Given the description of an element on the screen output the (x, y) to click on. 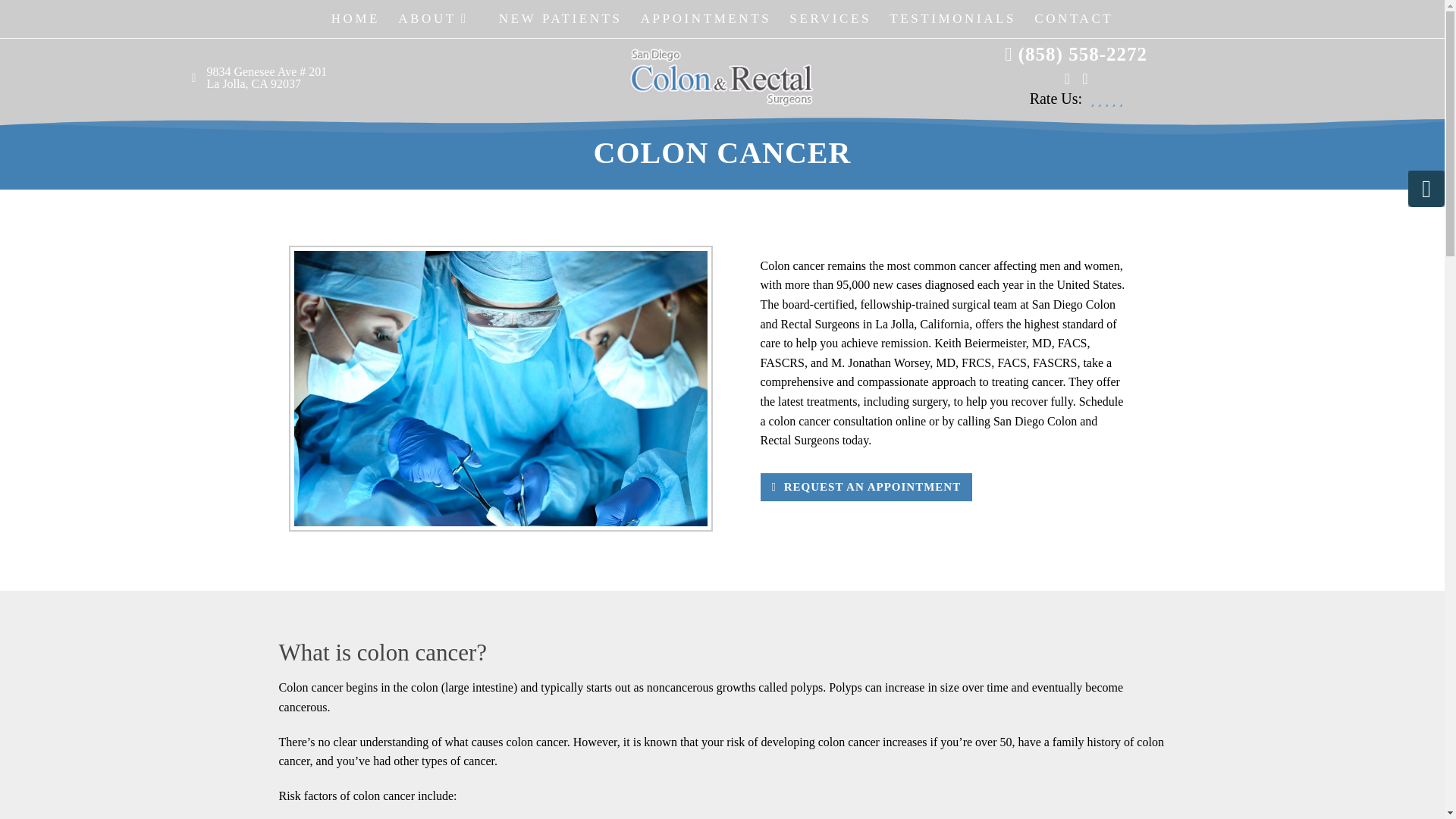
ABOUT (438, 18)
HOME (355, 18)
NEW PATIENTS (561, 18)
CONTACT (1073, 18)
Accessibility Helper sidebar (1425, 188)
REQUEST AN APPOINTMENT (864, 487)
SERVICES (830, 18)
APPOINTMENTS (706, 18)
TESTIMONIALS (952, 18)
